Given the description of an element on the screen output the (x, y) to click on. 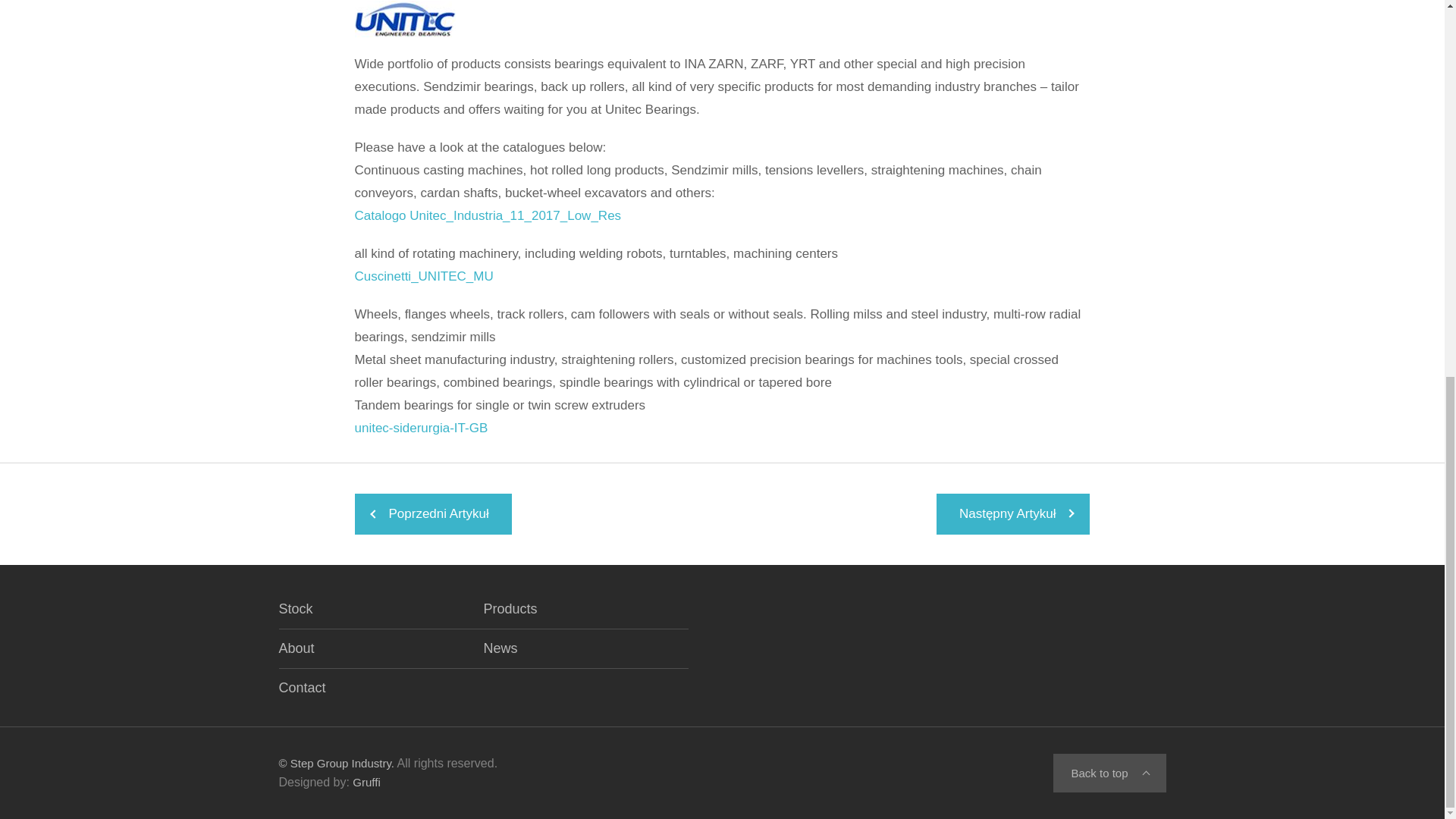
unitec-siderurgia-IT-GB (421, 427)
About (296, 648)
Back to top (1109, 772)
Stock (296, 614)
Contact (302, 688)
Gruffi (366, 781)
Stock (296, 614)
Products (510, 608)
